Given the description of an element on the screen output the (x, y) to click on. 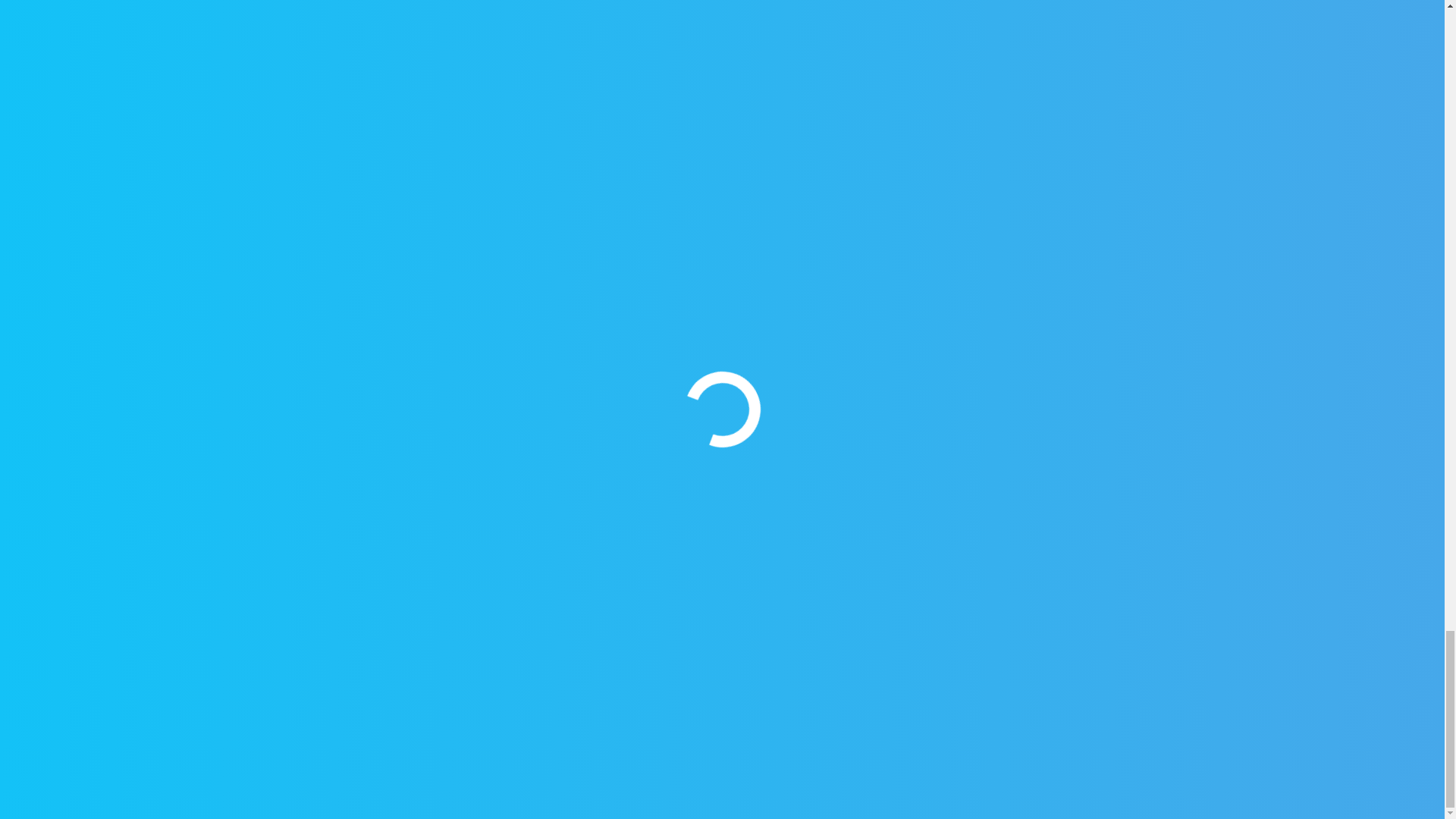
Home (507, 524)
Packages and Pricing (555, 556)
Post Comment (689, 217)
